Given the description of an element on the screen output the (x, y) to click on. 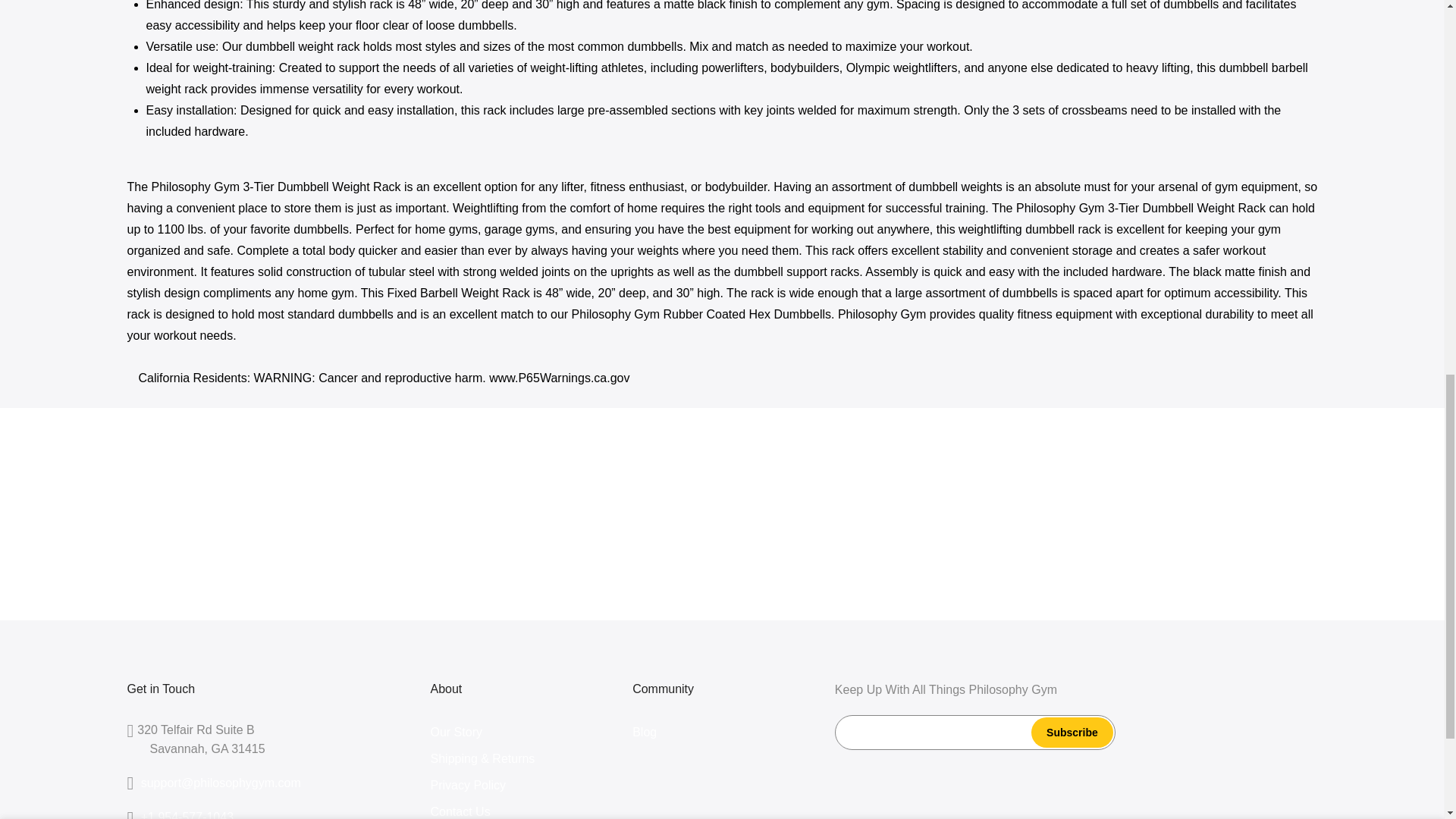
Subscribe (1071, 732)
Our Story (455, 731)
Contact Us (460, 811)
Blog (643, 731)
1 (1153, 35)
Privacy Policy (468, 784)
